Given the description of an element on the screen output the (x, y) to click on. 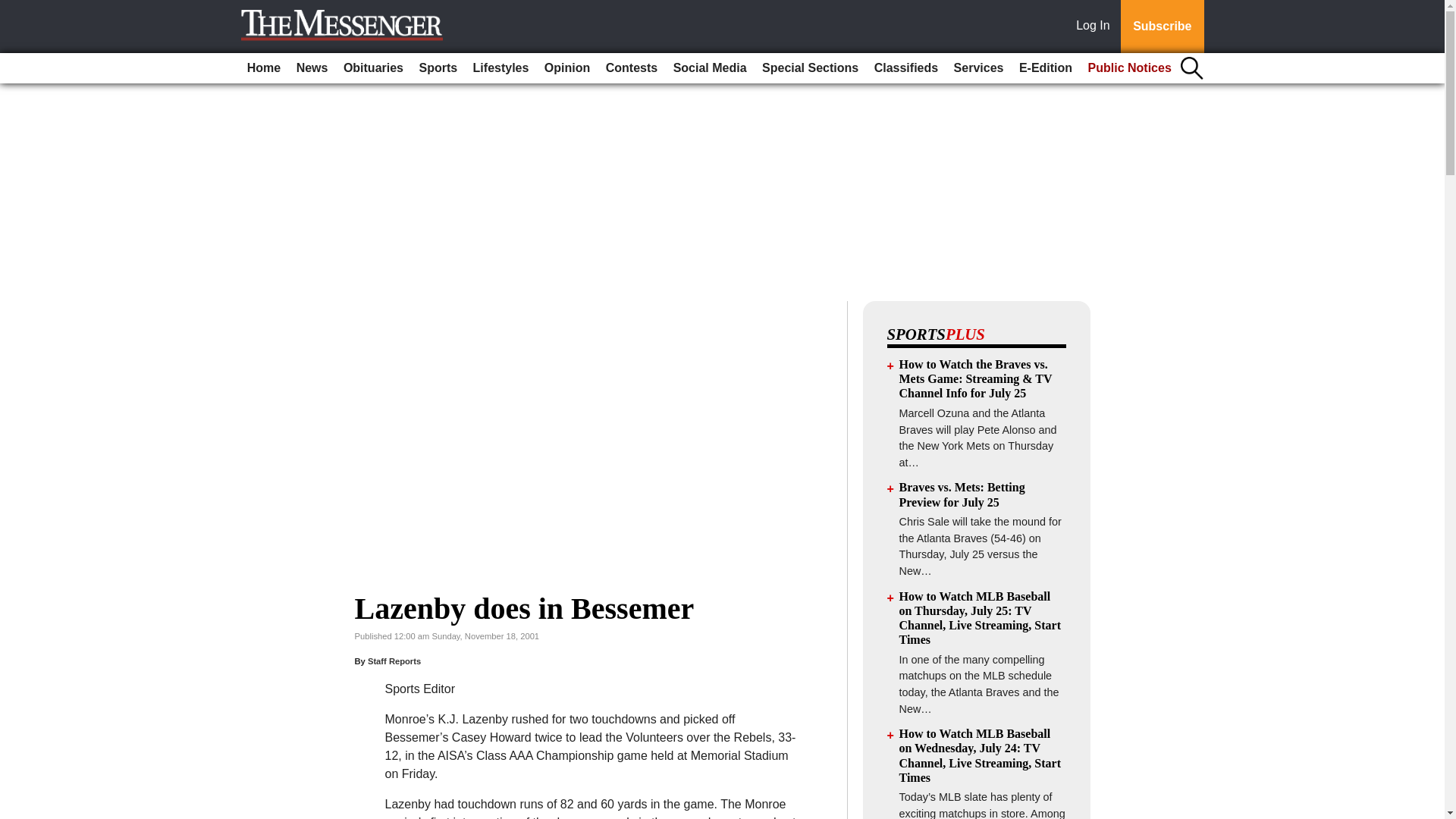
Sports (437, 68)
Classifieds (905, 68)
Opinion (566, 68)
Lifestyles (501, 68)
Home (263, 68)
Services (978, 68)
Obituaries (373, 68)
Special Sections (809, 68)
Social Media (709, 68)
Contests (631, 68)
E-Edition (1045, 68)
News (311, 68)
Log In (1095, 26)
Subscribe (1162, 26)
